Given the description of an element on the screen output the (x, y) to click on. 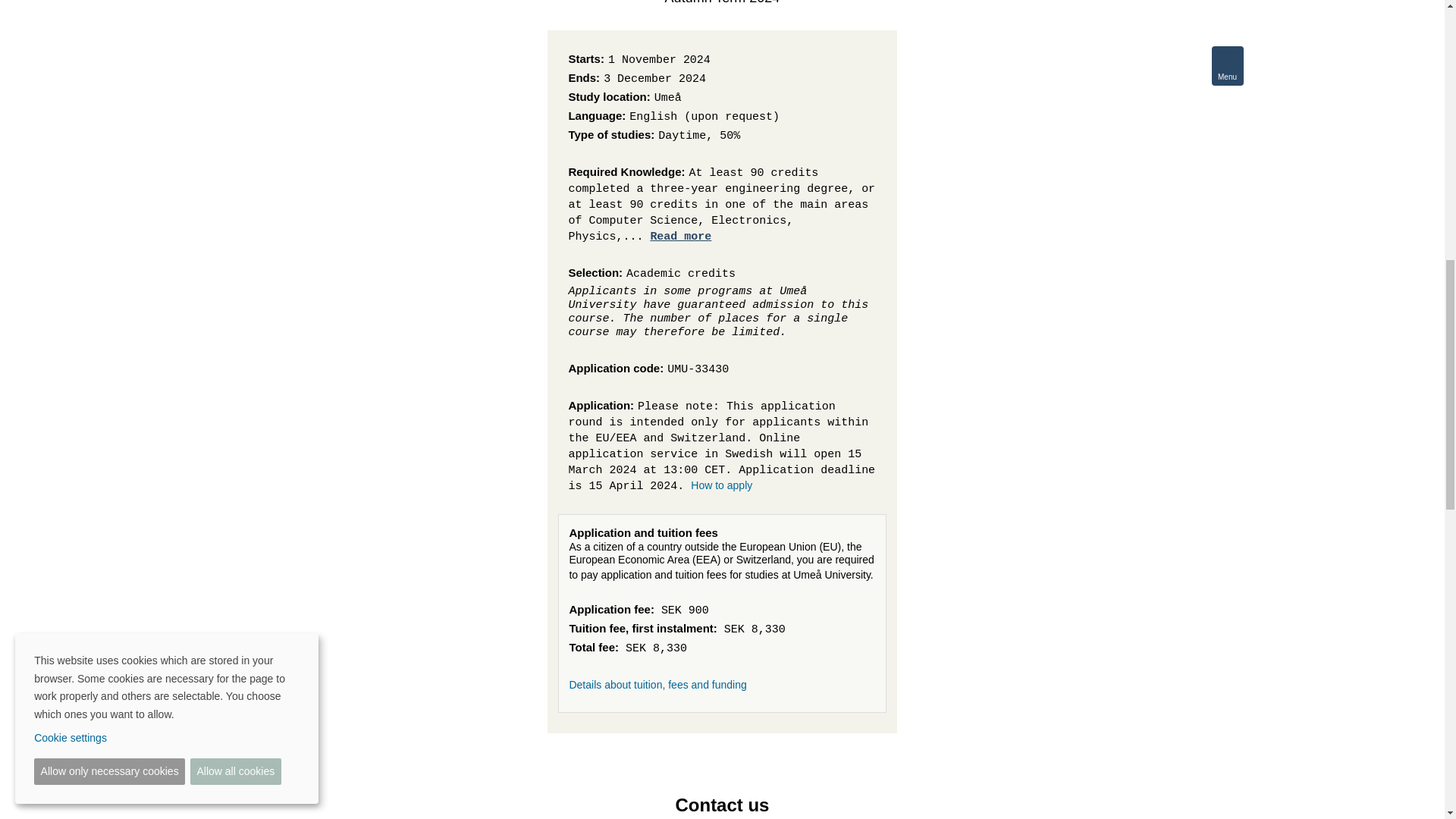
Details about tuition, fees and funding (657, 684)
How to apply (721, 485)
Read more (680, 236)
